Given the description of an element on the screen output the (x, y) to click on. 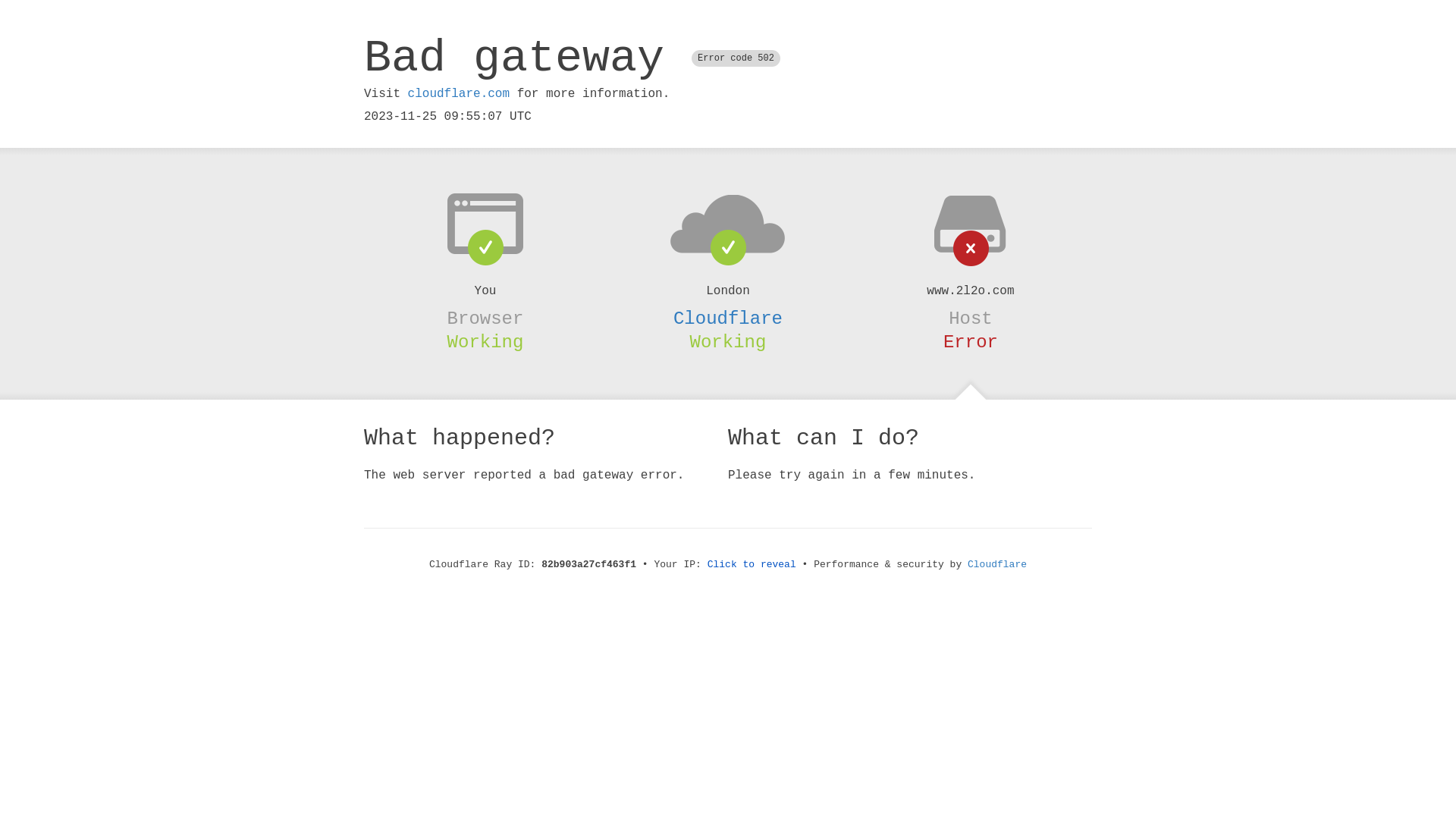
Cloudflare Element type: text (727, 318)
Cloudflare Element type: text (996, 564)
Click to reveal Element type: text (751, 564)
cloudflare.com Element type: text (458, 93)
